Given the description of an element on the screen output the (x, y) to click on. 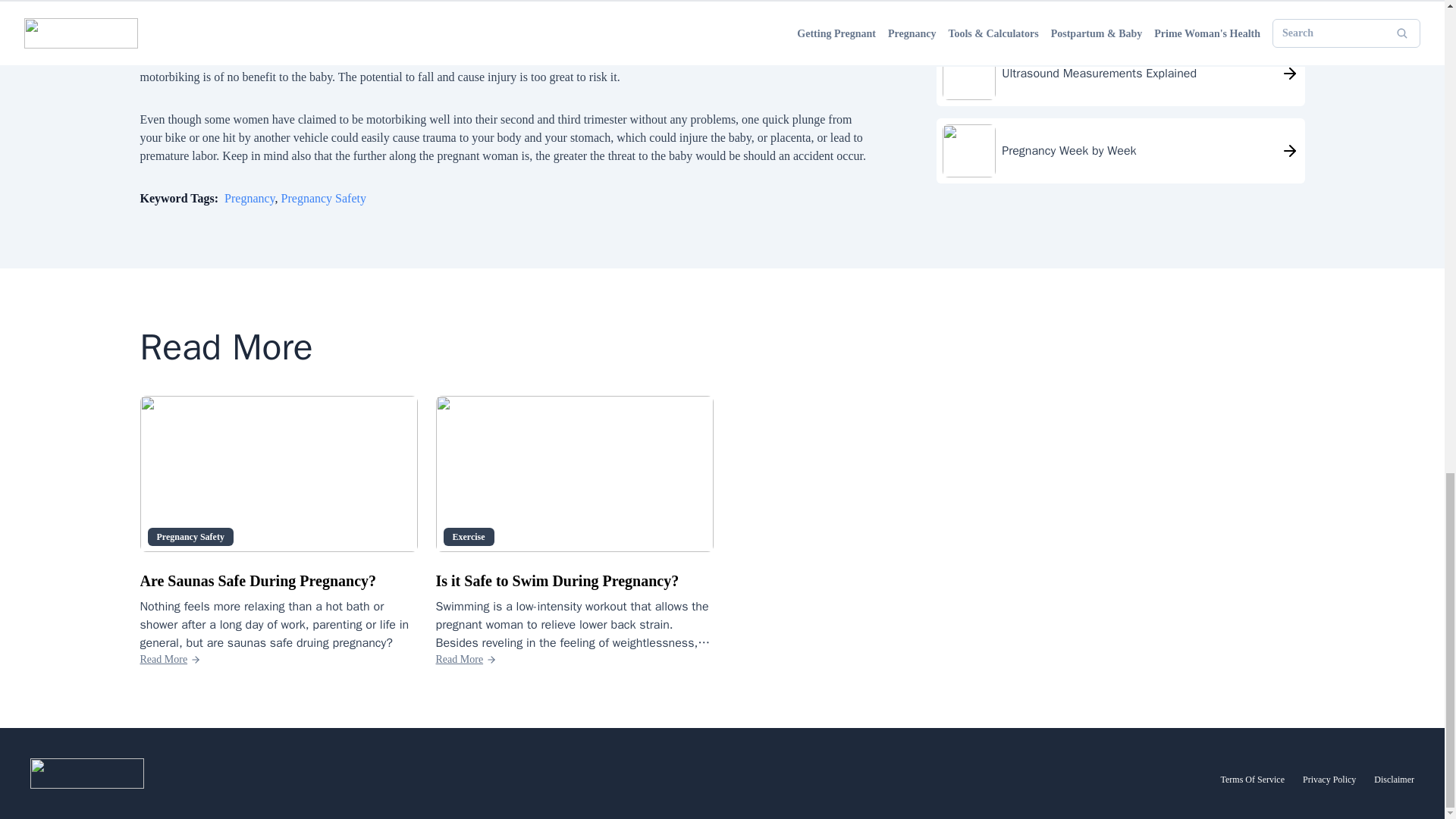
Read More (465, 659)
Privacy Policy (1329, 778)
Terms Of Service (1252, 778)
Disclaimer (1393, 778)
Keyword Tags:Pregnancy (207, 197)
Pregnancy Safety (323, 197)
Read More (169, 659)
